Given the description of an element on the screen output the (x, y) to click on. 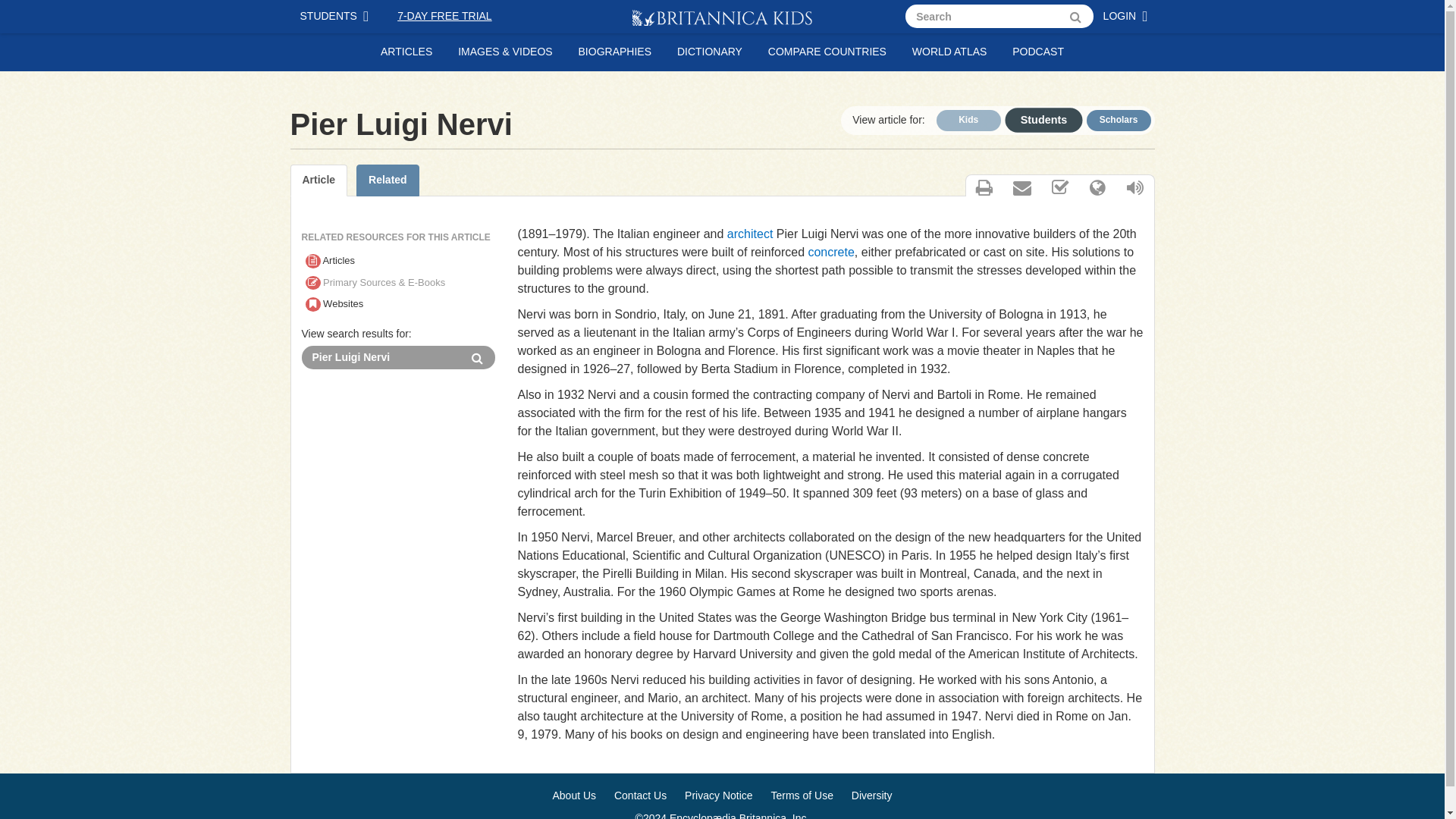
Grade 9 and Up (1118, 119)
Grades 6-8 (1036, 118)
Pier Luigi Nervi (381, 357)
STUDENTS (336, 16)
Pier Luigi Nervi (381, 357)
